Given the description of an element on the screen output the (x, y) to click on. 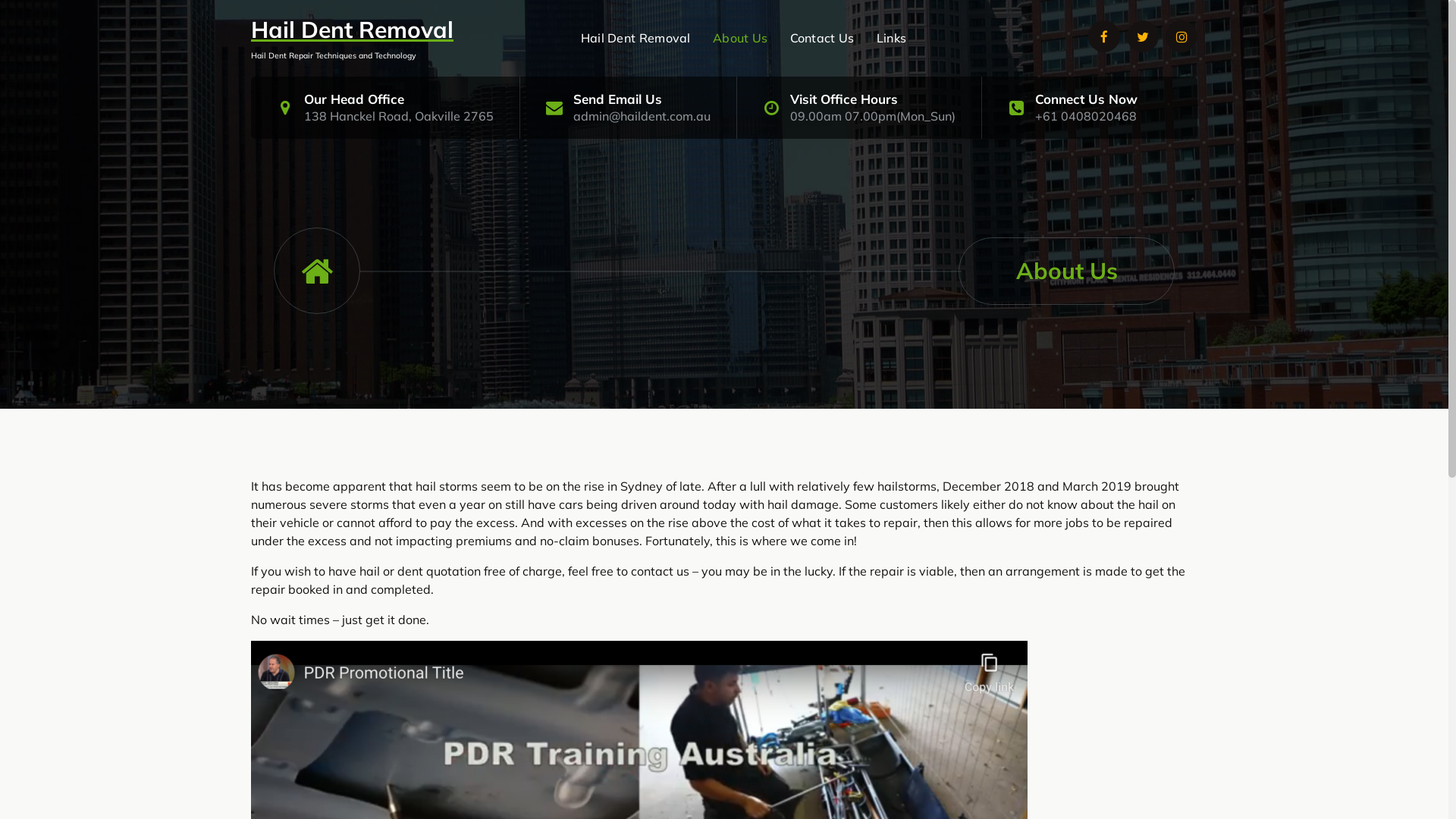
Links Element type: text (891, 38)
Hail Dent Removal Element type: text (352, 29)
+61 0408020468 Element type: text (1085, 115)
Contact Us Element type: text (821, 38)
admin@haildent.com.au Element type: text (641, 115)
Hail Dent Removal Element type: text (635, 38)
About Us Element type: text (740, 38)
